Given the description of an element on the screen output the (x, y) to click on. 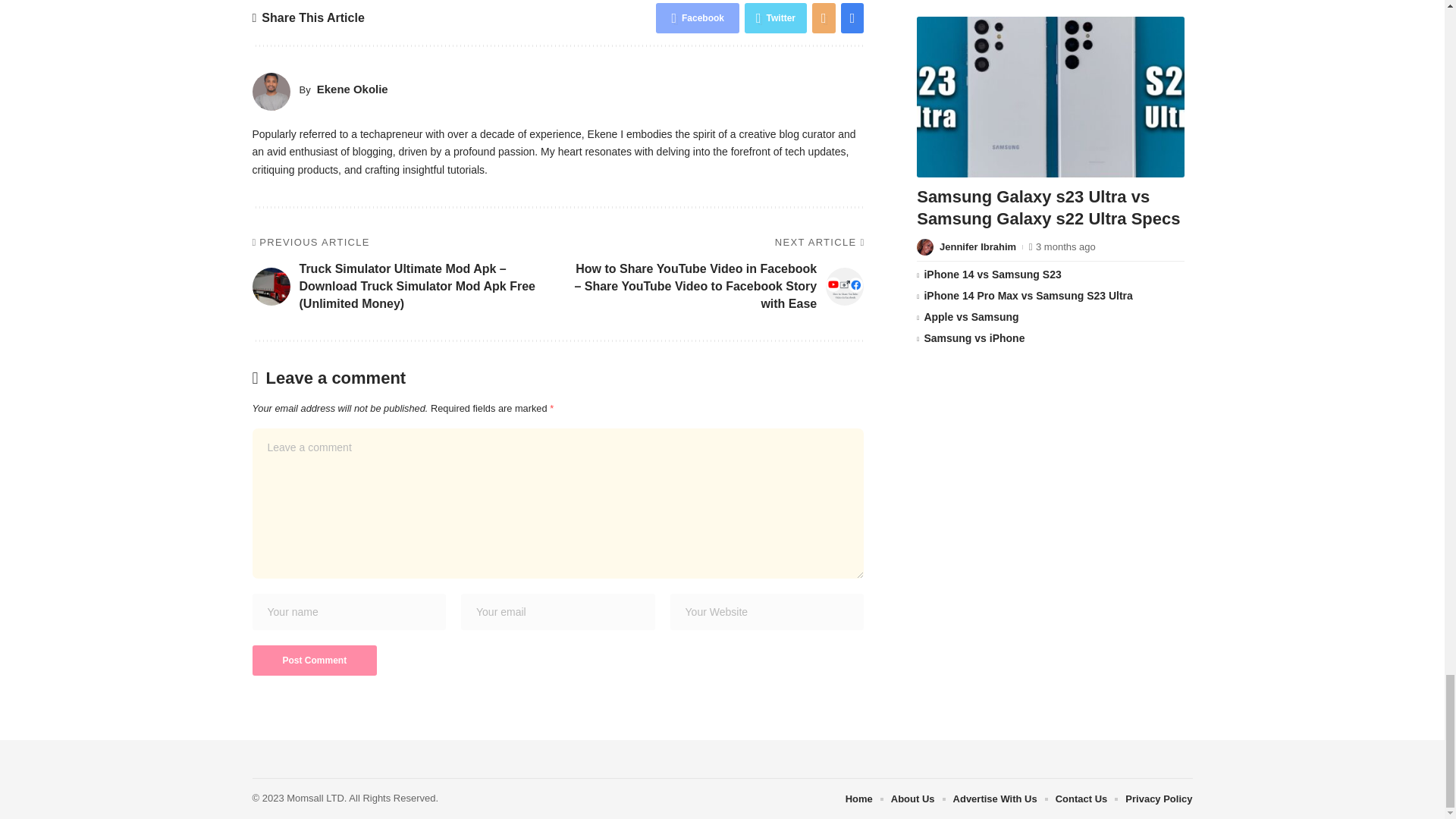
Post Comment (314, 660)
